Given the description of an element on the screen output the (x, y) to click on. 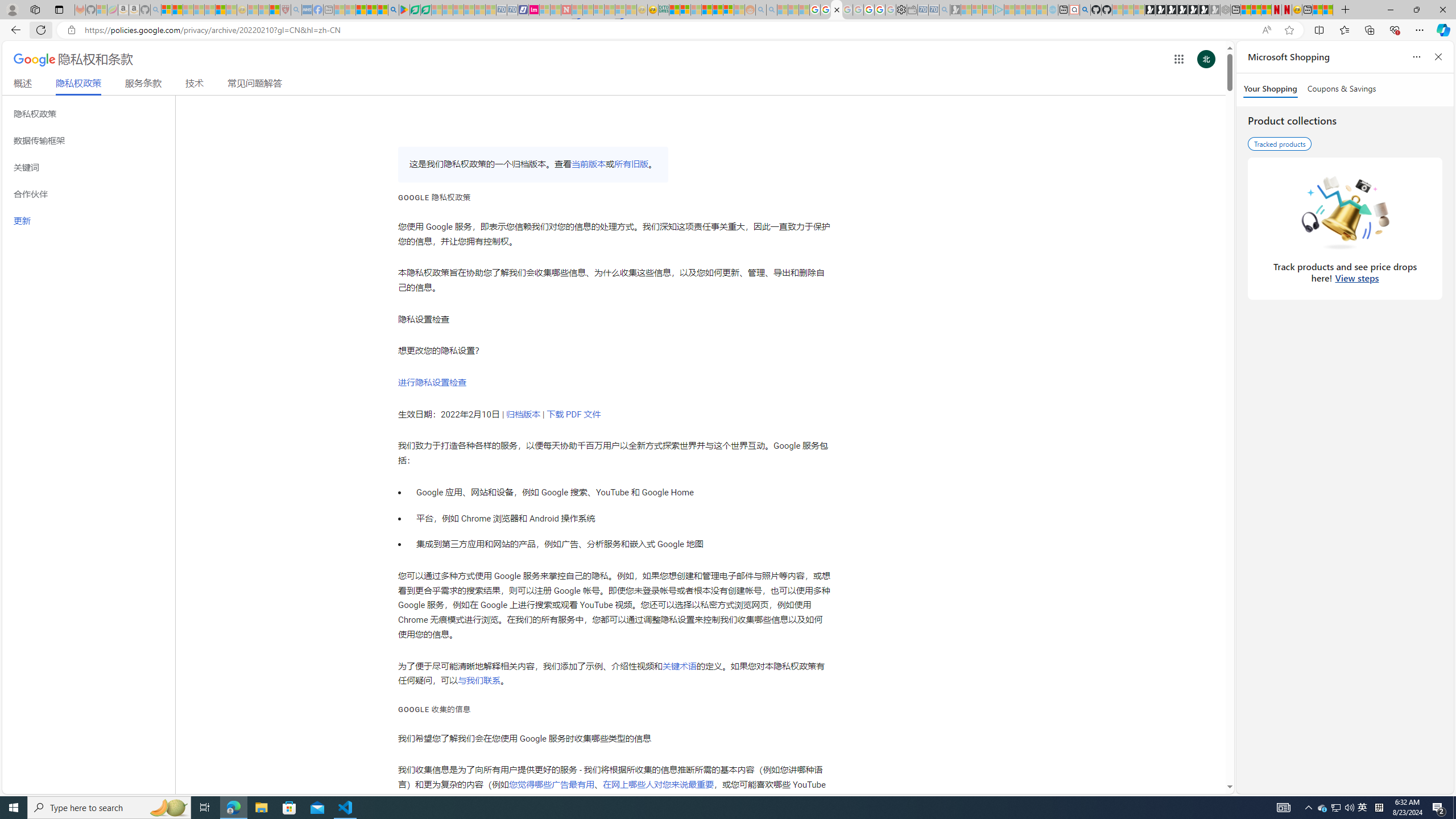
Microsoft Word - consumer-privacy address update 2.2021 (426, 9)
